Given the description of an element on the screen output the (x, y) to click on. 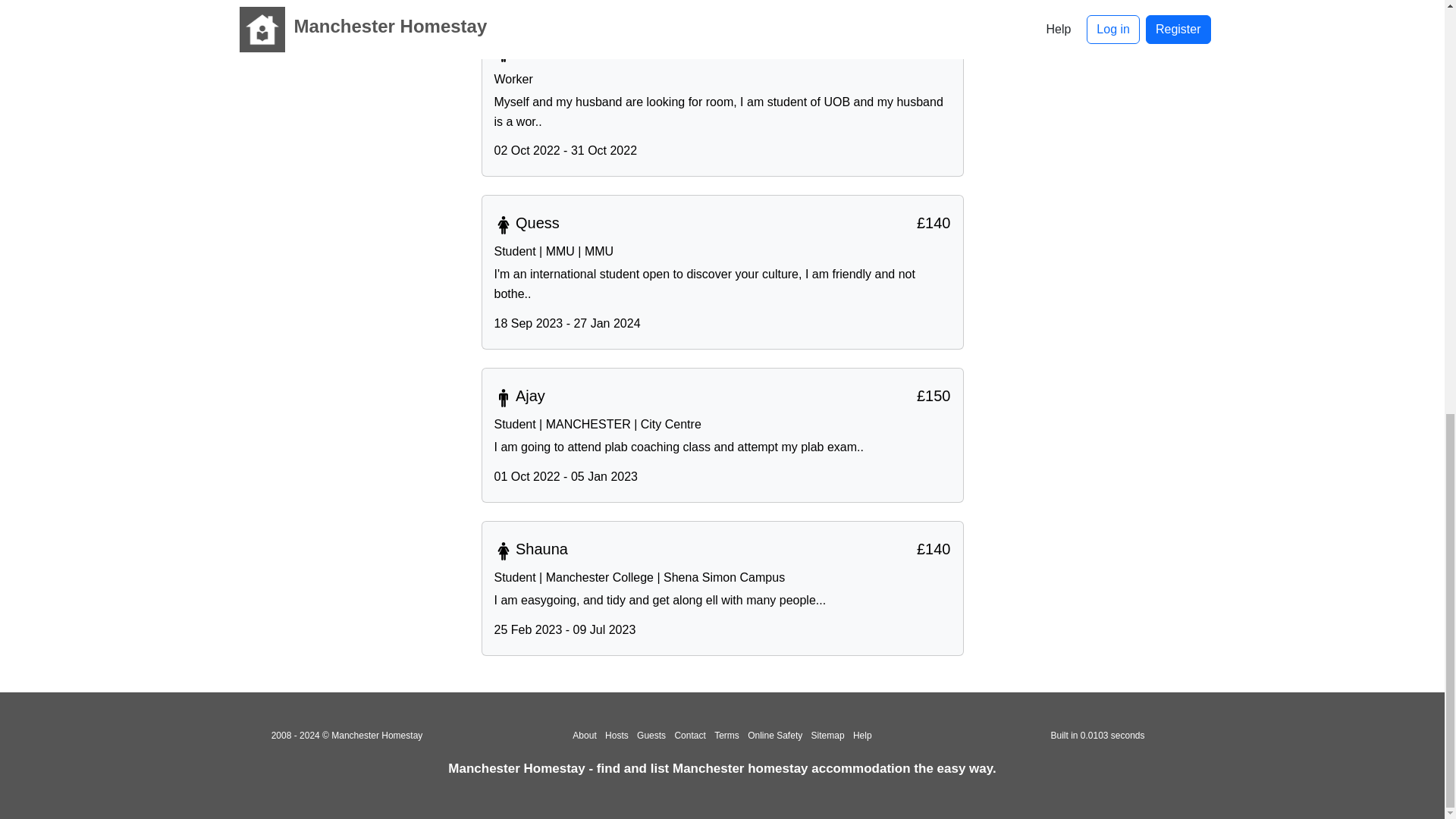
Online Safety (775, 735)
About (583, 735)
Contact (689, 735)
Guests (651, 735)
Hosts (616, 735)
Help (862, 735)
Terms (726, 735)
Sitemap (827, 735)
